Given the description of an element on the screen output the (x, y) to click on. 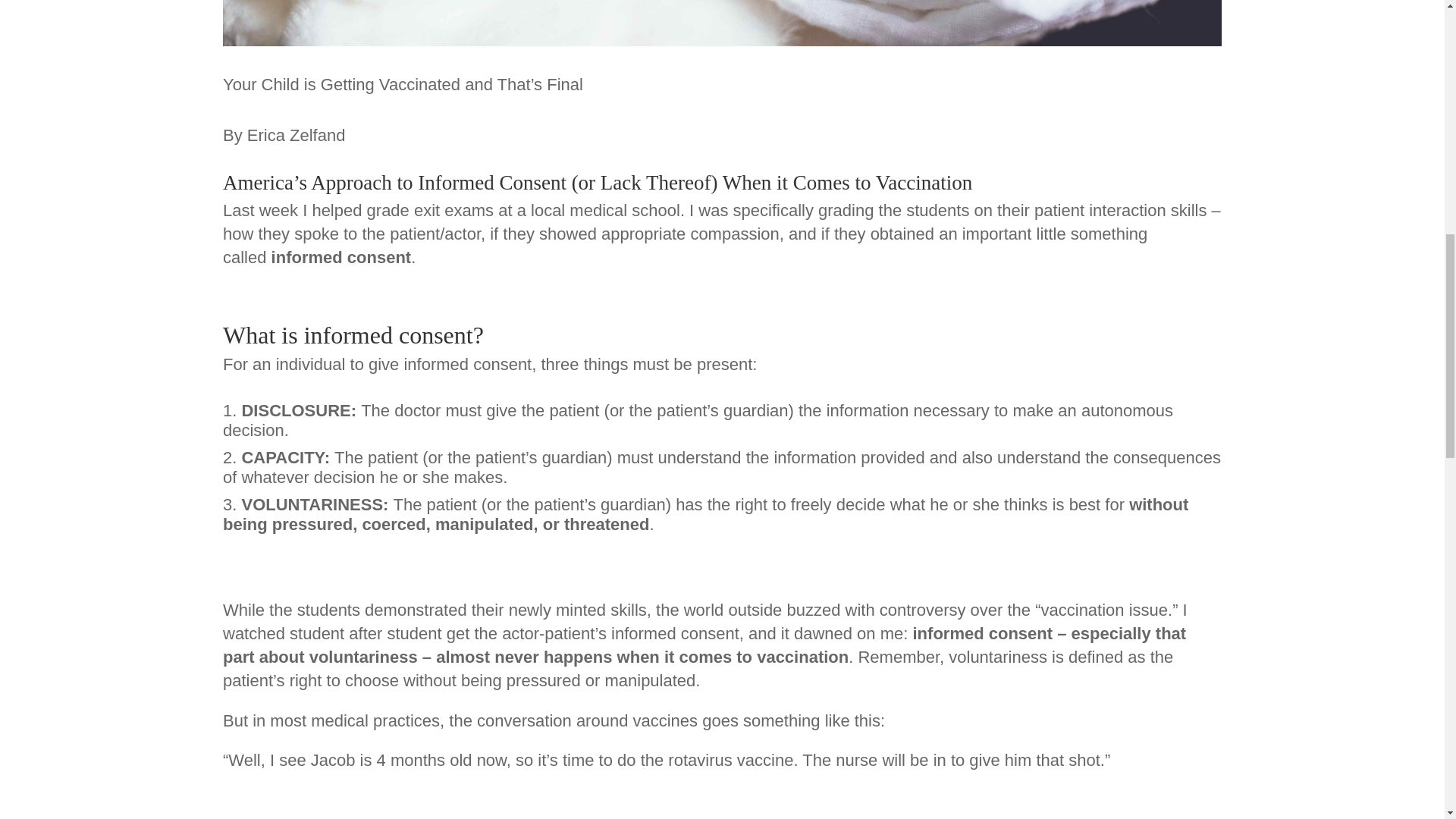
amanda-jordan-134331-baby-feet-low-res (721, 22)
